Given the description of an element on the screen output the (x, y) to click on. 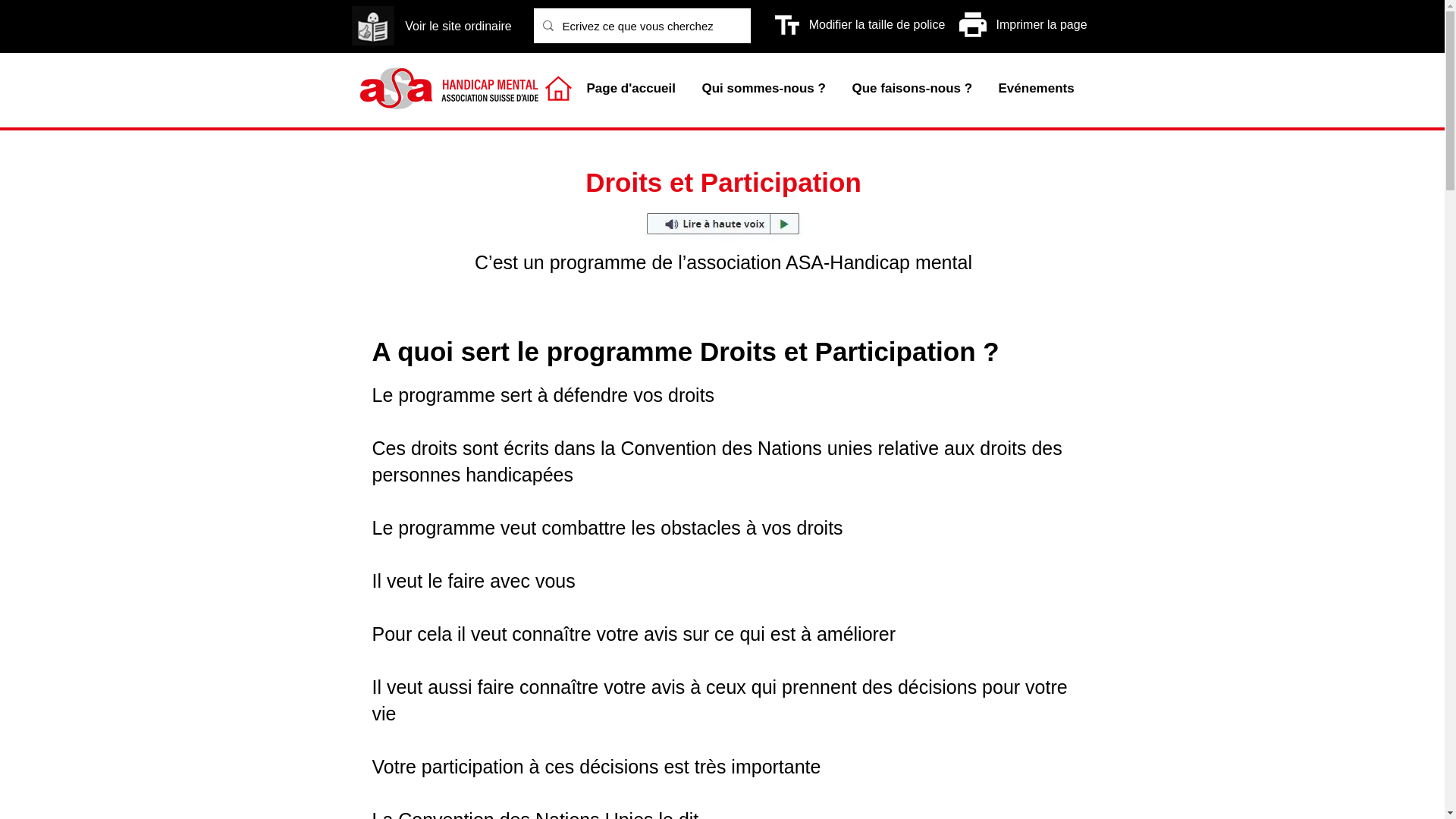
Voir le site ordinaire Element type: text (458, 26)
Imprimer la page Element type: text (1041, 24)
Page d'accueil Element type: text (632, 88)
Modifier la taille de police Element type: text (876, 24)
Qui sommes-nous ? Element type: text (764, 88)
